Given the description of an element on the screen output the (x, y) to click on. 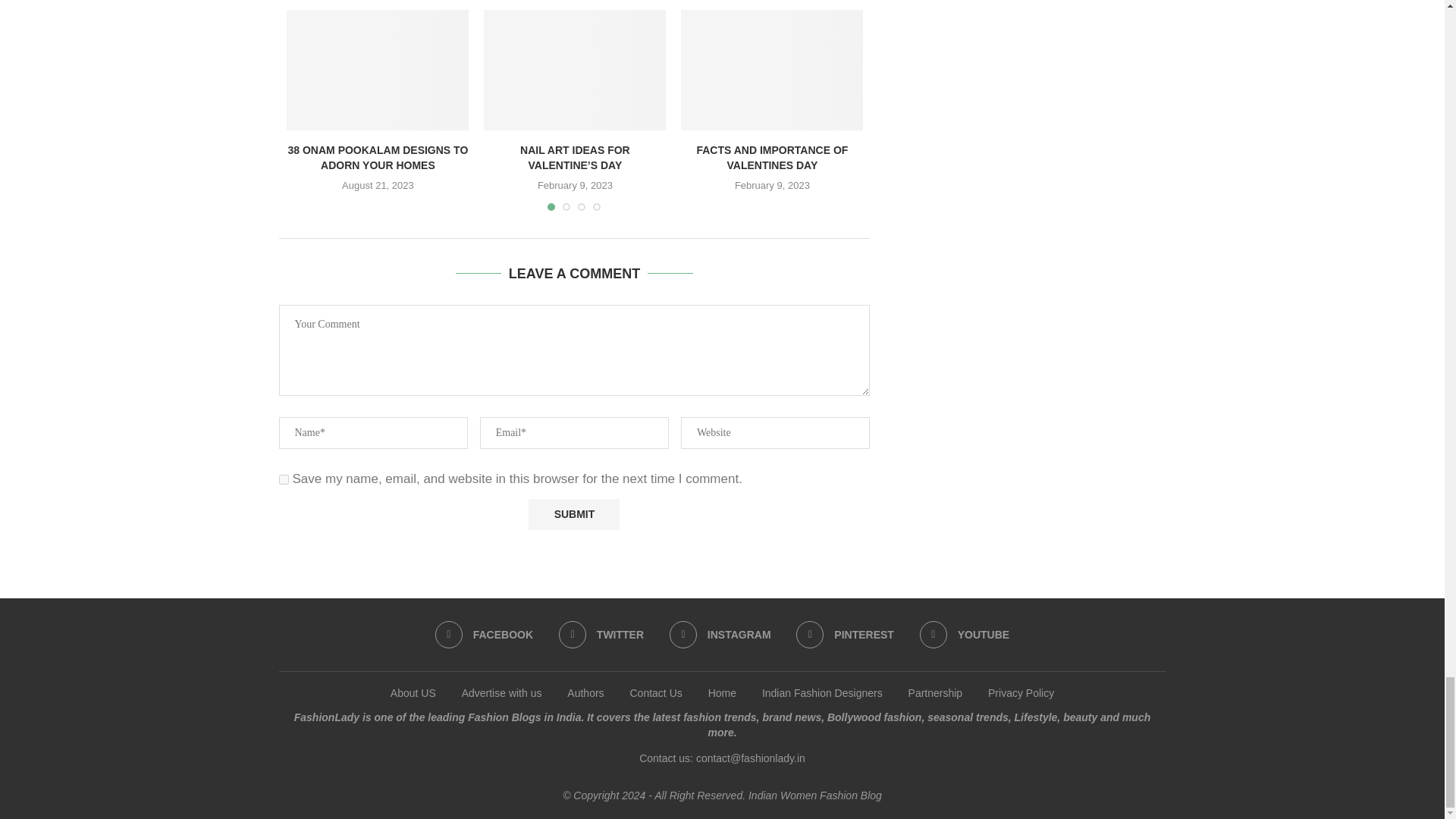
Submit (574, 513)
38 ONAM POOKALAM DESIGNS TO ADORN YOUR HOMES (377, 70)
yes (283, 479)
Facts And Importance of Valentines Day (772, 70)
